Given the description of an element on the screen output the (x, y) to click on. 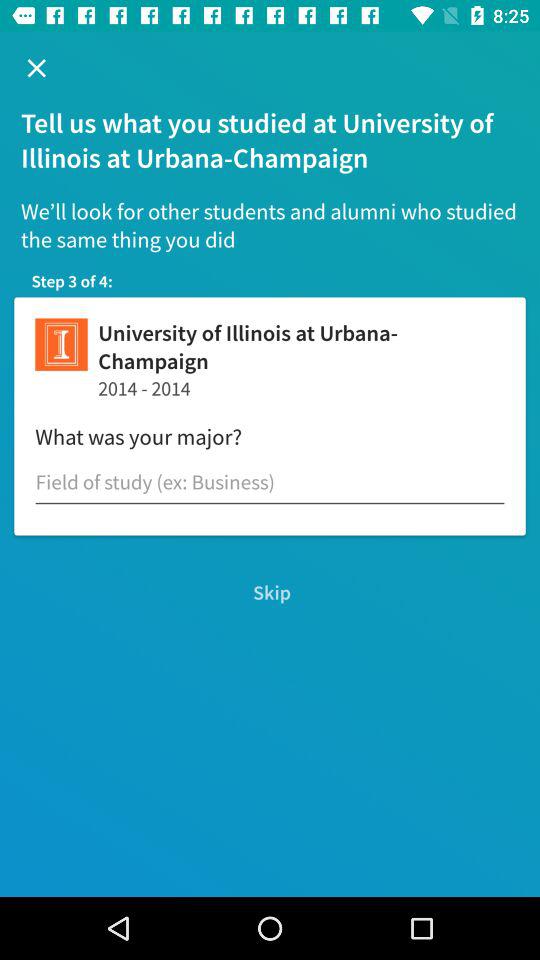
choose the skip icon (269, 592)
